Given the description of an element on the screen output the (x, y) to click on. 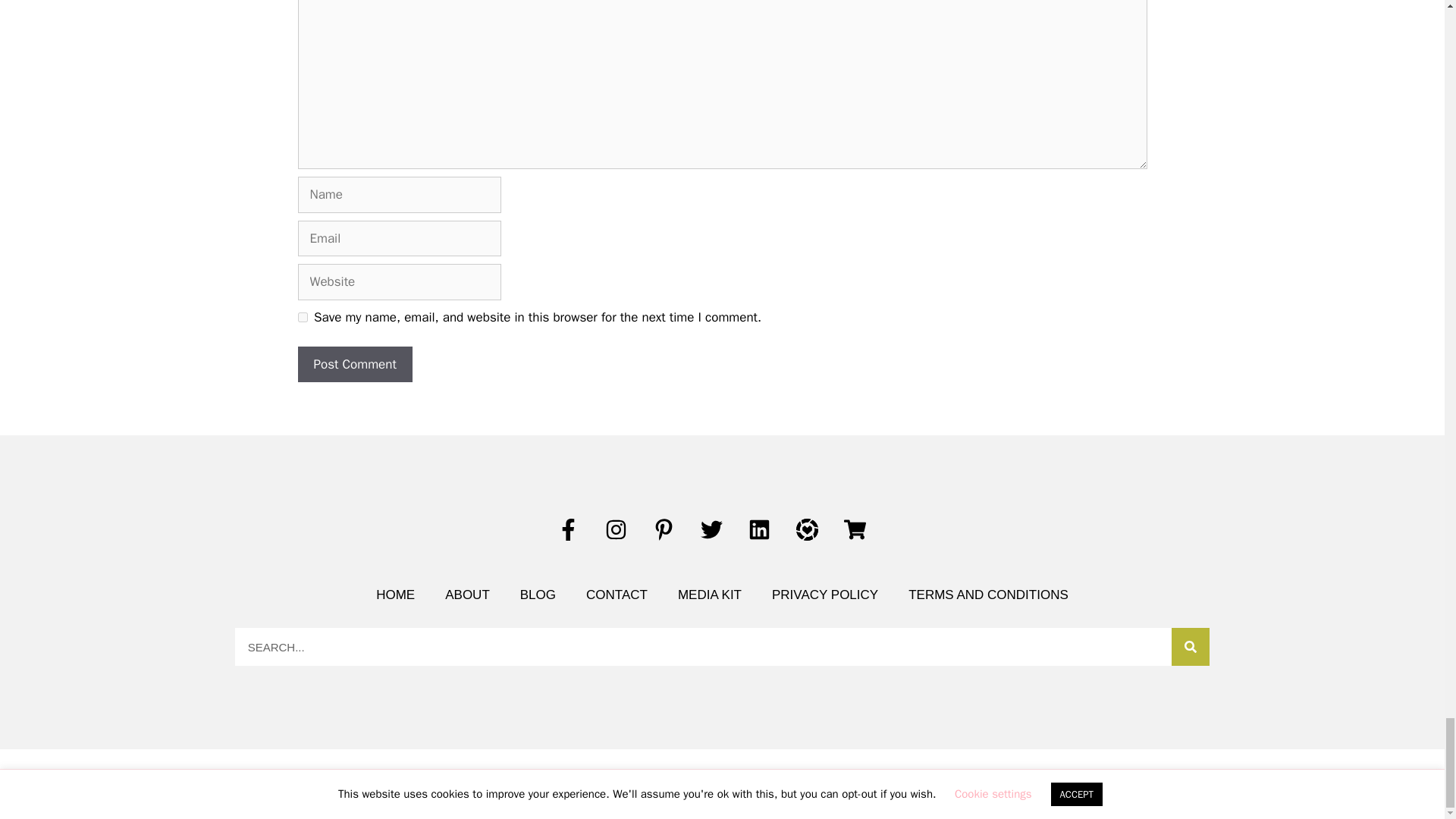
yes (302, 317)
Post Comment (354, 364)
